Given the description of an element on the screen output the (x, y) to click on. 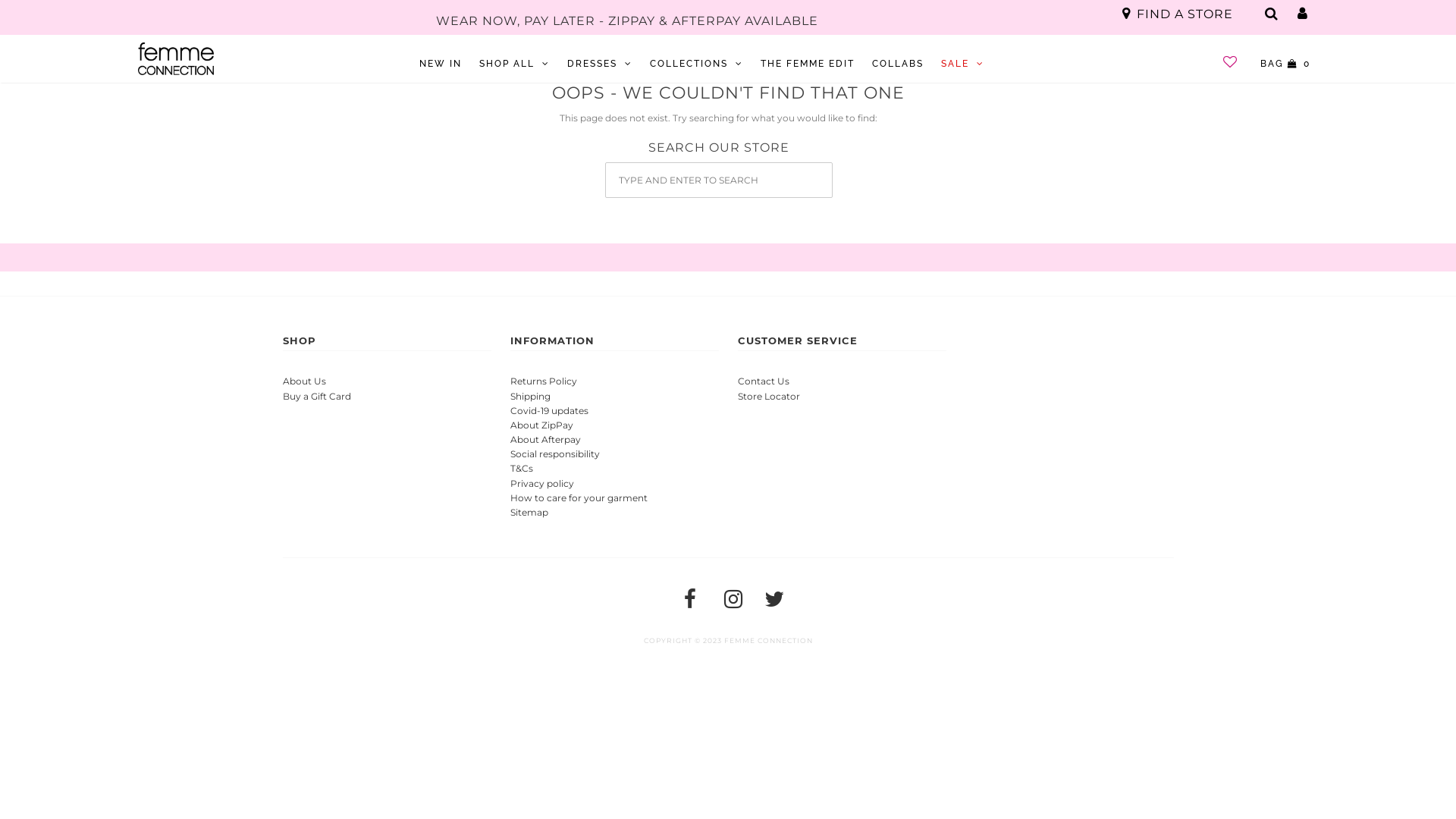
SHOP ALL Element type: text (514, 63)
FIND A STORE Element type: text (1177, 13)
Privacy policy Element type: text (541, 483)
SALE Element type: text (962, 63)
BAG  0 Element type: text (1284, 63)
Covid-19 updates Element type: text (548, 410)
COLLABS Element type: text (897, 63)
DRESSES Element type: text (599, 63)
How to care for your garment Element type: text (577, 497)
Social responsibility Element type: text (554, 453)
NEW IN Element type: text (440, 63)
Buy a Gift Card Element type: text (316, 395)
About Us Element type: text (303, 380)
Contact Us Element type: text (762, 380)
Store Locator Element type: text (768, 395)
About Afterpay Element type: text (544, 439)
Shipping Element type: text (529, 395)
FEMME CONNECTION Element type: text (767, 640)
Sitemap Element type: text (528, 511)
T&Cs Element type: text (520, 467)
About ZipPay Element type: text (540, 424)
THE FEMME EDIT Element type: text (807, 63)
Returns Policy Element type: text (542, 380)
COLLECTIONS Element type: text (696, 63)
